Given the description of an element on the screen output the (x, y) to click on. 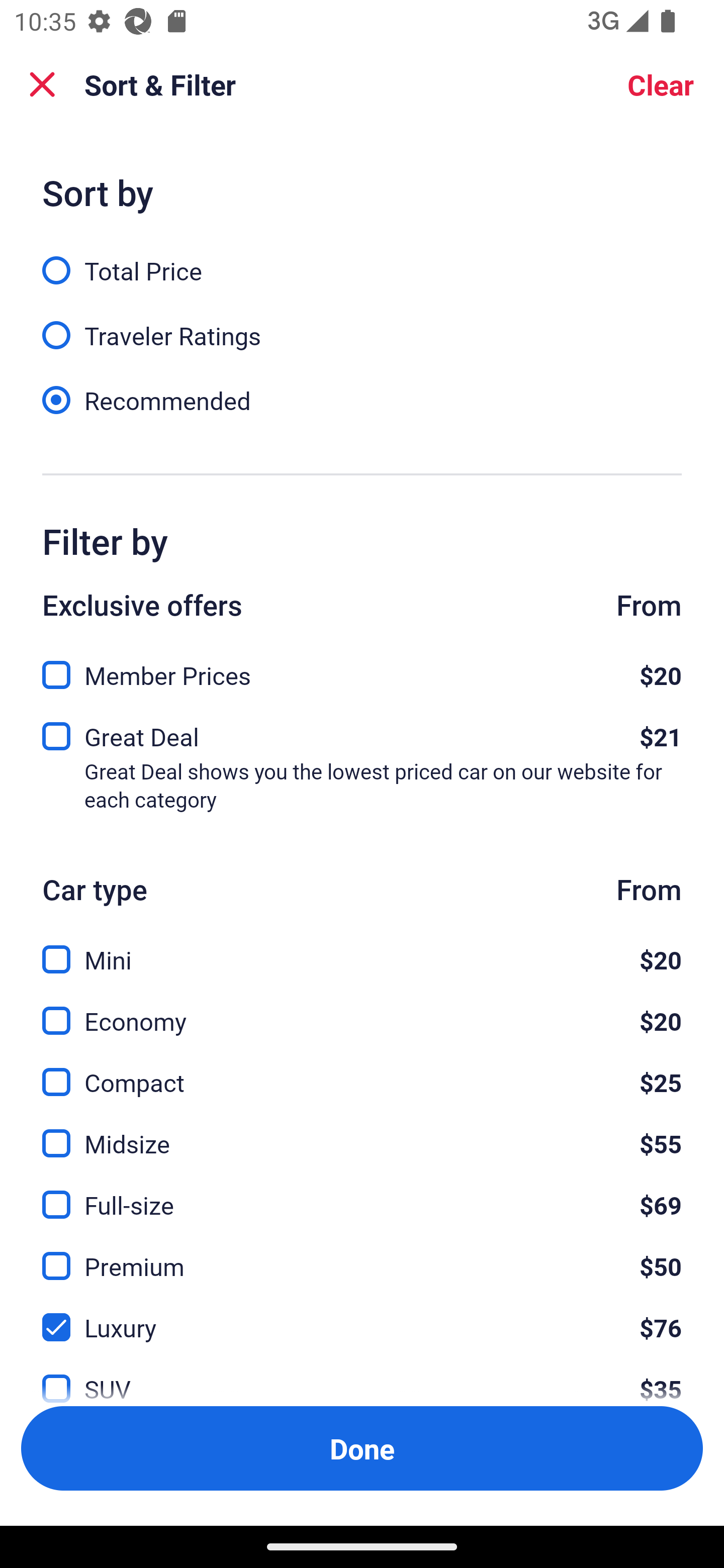
Close Sort and Filter (42, 84)
Clear (660, 84)
Total Price (361, 259)
Traveler Ratings (361, 324)
Member Prices, $20 Member Prices $20 (361, 669)
Mini, $20 Mini $20 (361, 947)
Economy, $20 Economy $20 (361, 1008)
Compact, $25 Compact $25 (361, 1070)
Midsize, $55 Midsize $55 (361, 1132)
Full-size, $69 Full-size $69 (361, 1193)
Premium, $50 Premium $50 (361, 1254)
Luxury, $76 Luxury $76 (361, 1315)
SUV, $35 SUV $35 (361, 1376)
Apply and close Sort and Filter Done (361, 1448)
